Given the description of an element on the screen output the (x, y) to click on. 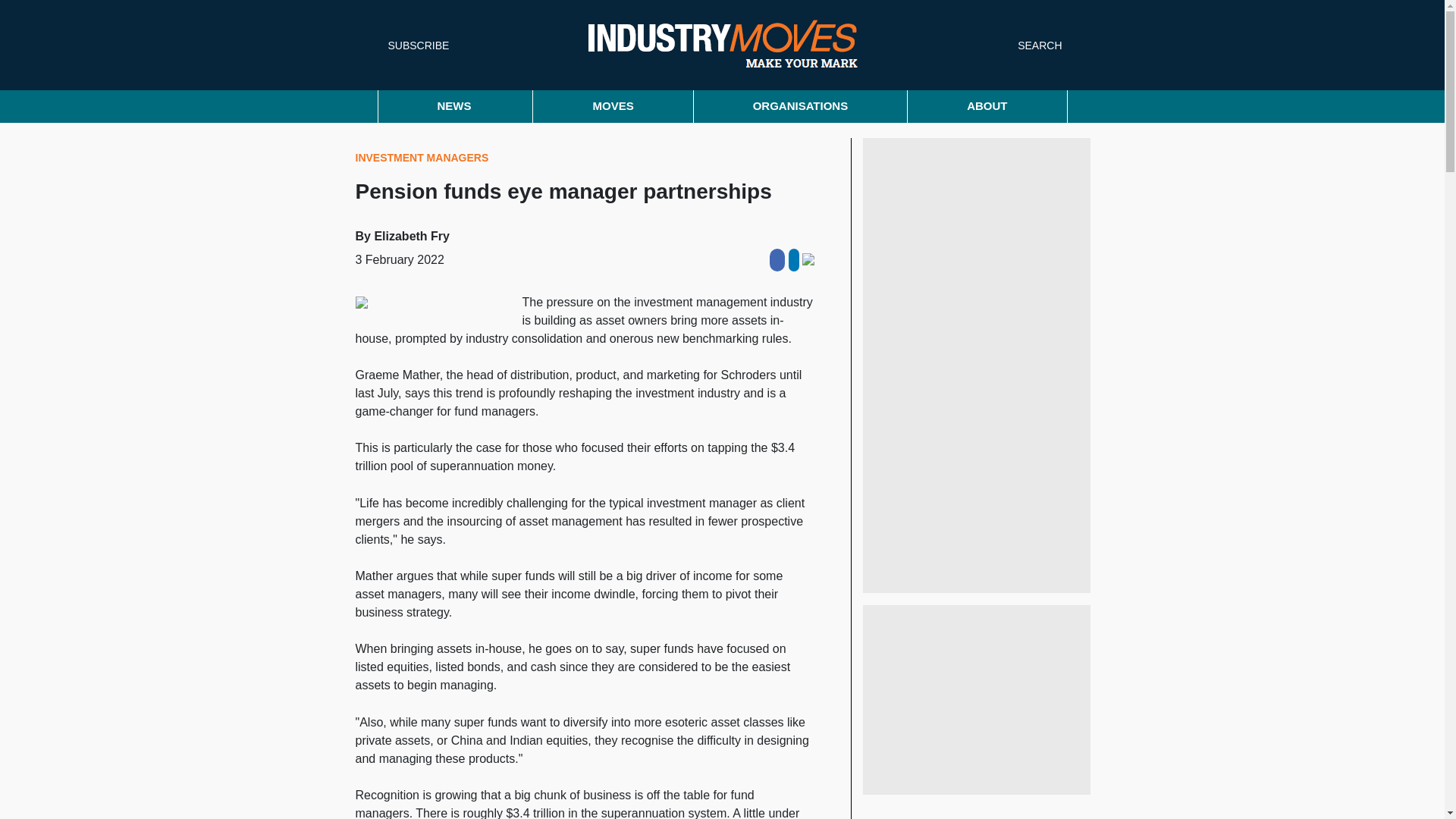
SEARCH (1037, 45)
SUBSCRIBE (414, 43)
INVESTMENT MANAGERS (421, 157)
Advertisement (976, 699)
MOVES (612, 106)
Industry Moves Home (722, 44)
ORGANISATIONS (801, 106)
ABOUT (987, 106)
Subscribe Industry Moves (414, 43)
NEWS (454, 106)
